Given the description of an element on the screen output the (x, y) to click on. 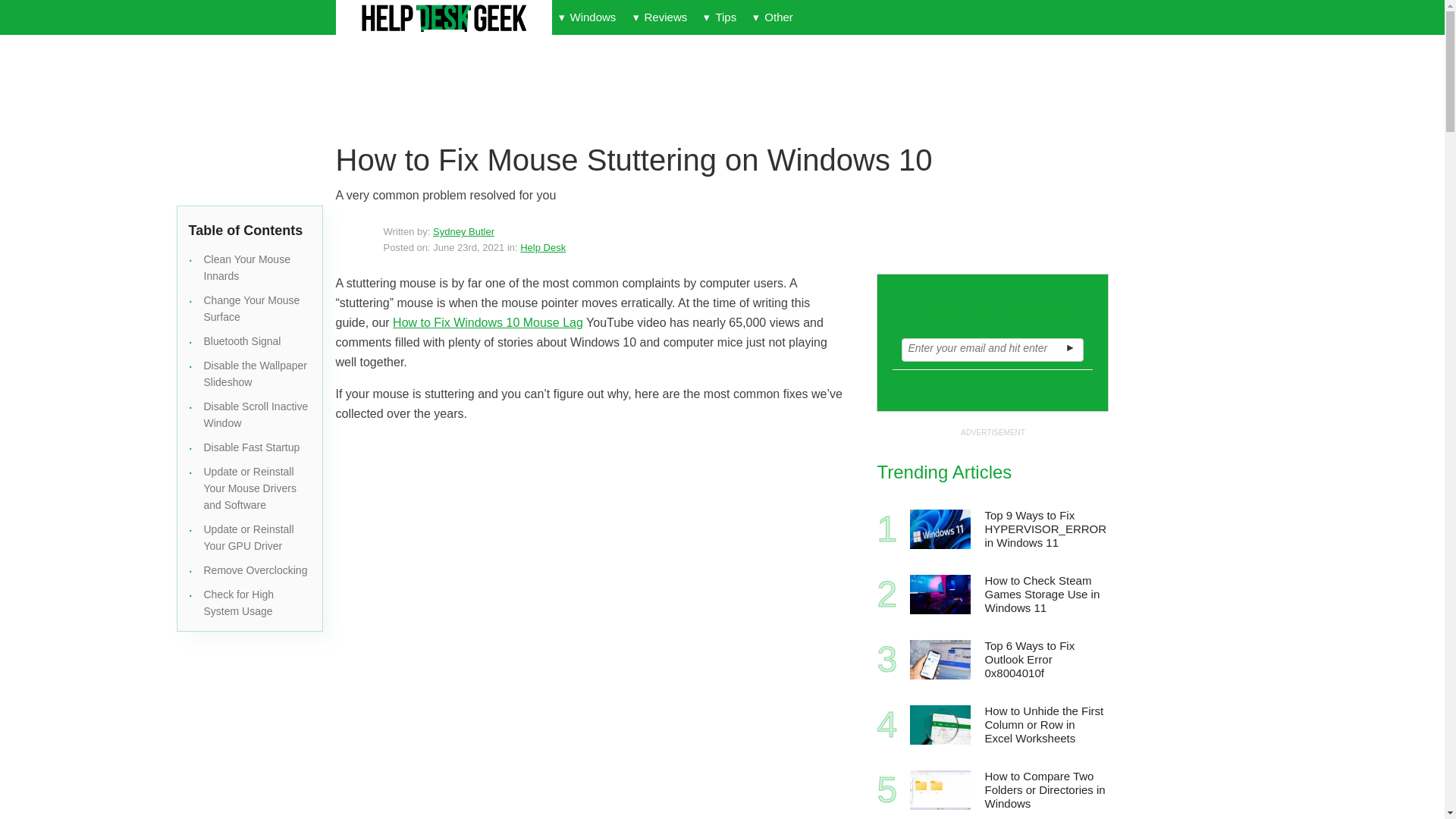
How to Unhide the First Column or Row in Excel Worksheets (1044, 724)
Help Desk Geek (443, 17)
3rd party ad content (702, 92)
Tips (719, 17)
Other (772, 17)
How to Check Steam Games Storage Use in Windows 11 (1044, 594)
How to Unhide the First Column or Row in Excel Worksheets (940, 724)
How to Compare Two Folders or Directories in Windows (940, 789)
Windows (587, 17)
Help Desk Geek (443, 17)
Top 6 Ways to Fix Outlook Error 0x8004010f (1044, 659)
How to Compare Two Folders or Directories in Windows (1044, 790)
Top 6 Ways to Fix Outlook Error 0x8004010f (940, 659)
How to Check Steam Games Storage Use in Windows 11 (940, 594)
Reviews (660, 17)
